Given the description of an element on the screen output the (x, y) to click on. 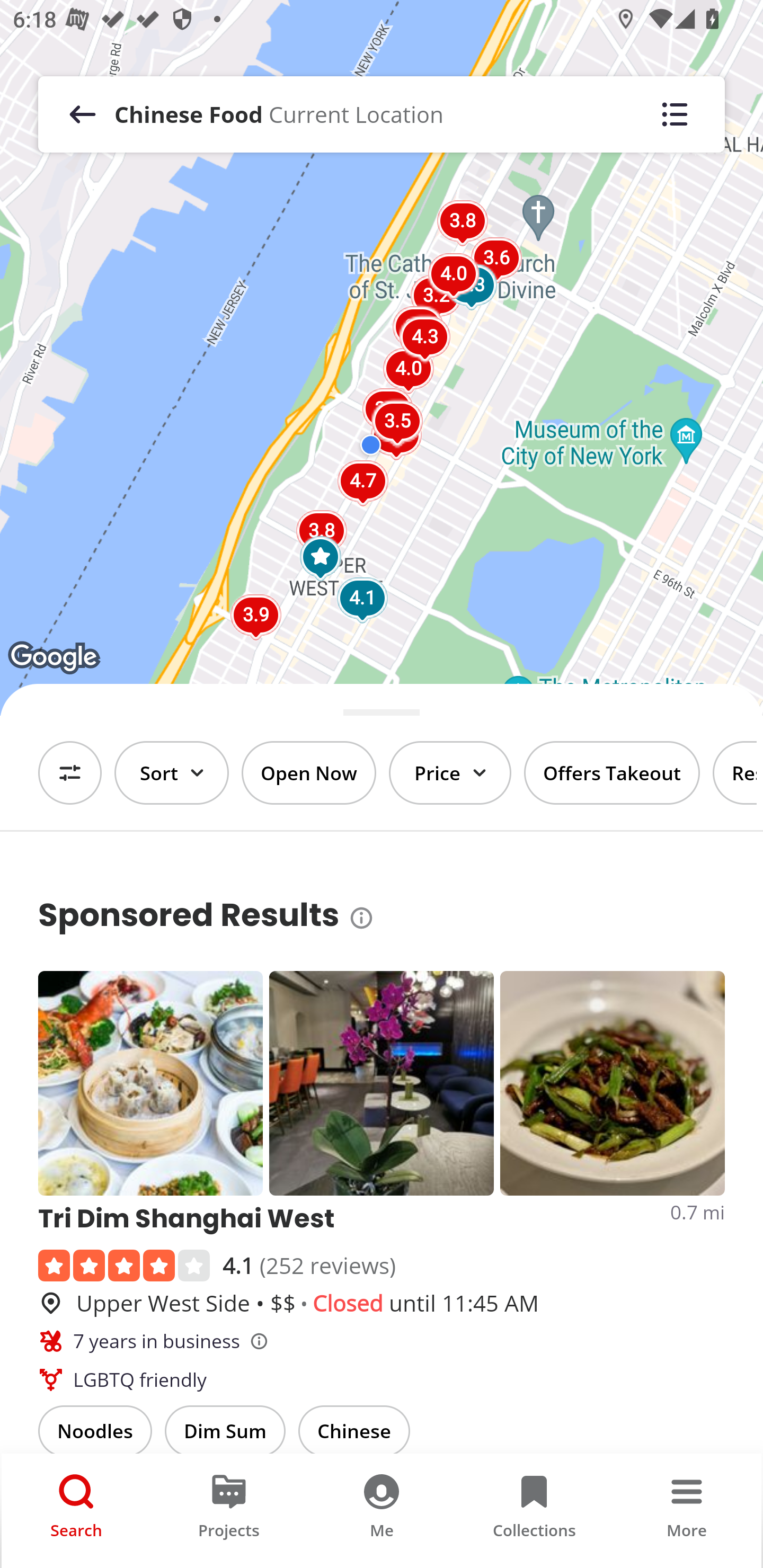
Sort (171, 772)
